Given the description of an element on the screen output the (x, y) to click on. 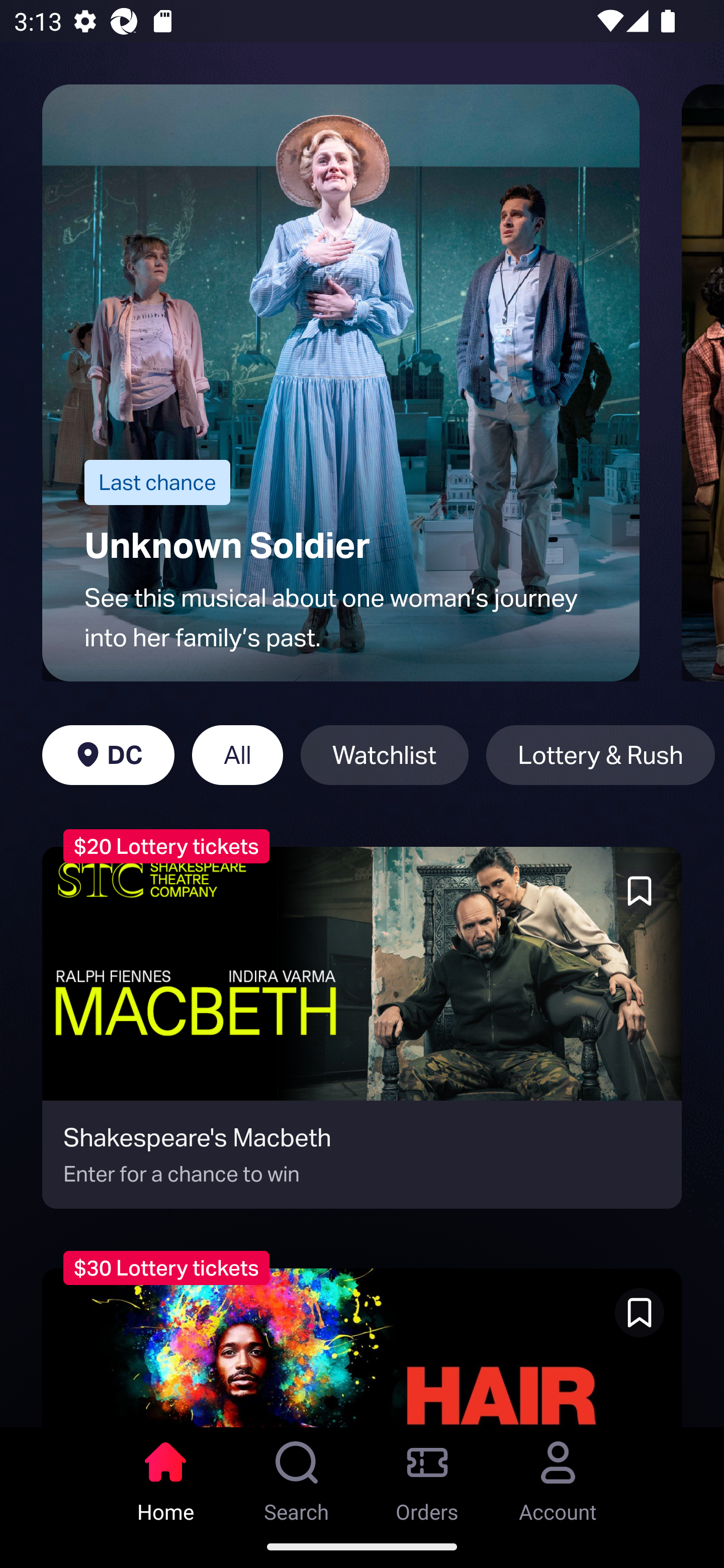
DC (107, 754)
All (237, 754)
Watchlist (384, 754)
Lottery & Rush (600, 754)
Shakespeare's Macbeth Enter for a chance to win  (361, 1027)
Search (296, 1475)
Orders (427, 1475)
Account (558, 1475)
